Given the description of an element on the screen output the (x, y) to click on. 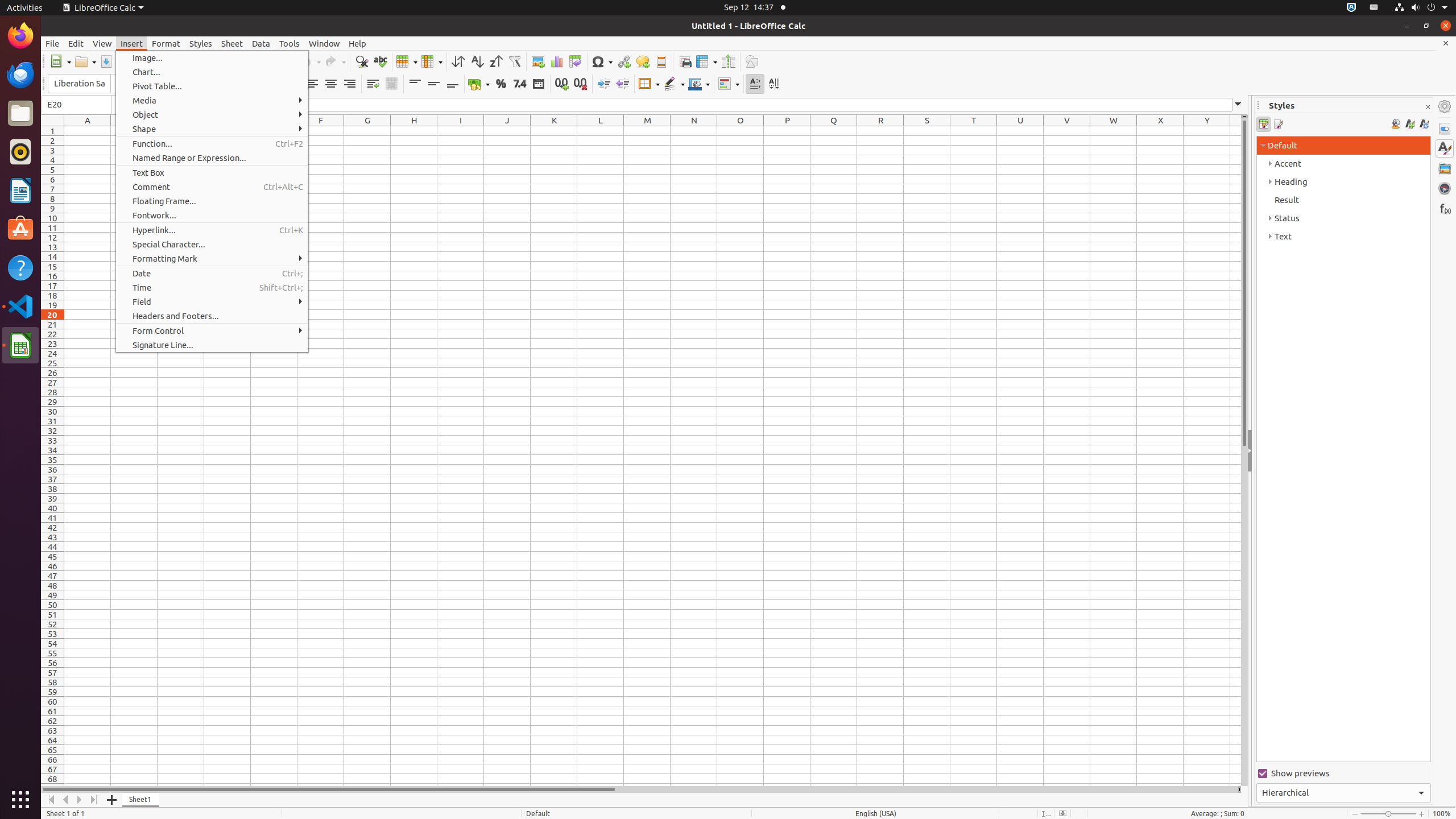
Image Element type: push-button (537, 61)
J1 Element type: table-cell (507, 130)
Floating Frame... Element type: menu-item (212, 200)
Show Applications Element type: toggle-button (20, 799)
Update Style Element type: push-button (1423, 123)
